Given the description of an element on the screen output the (x, y) to click on. 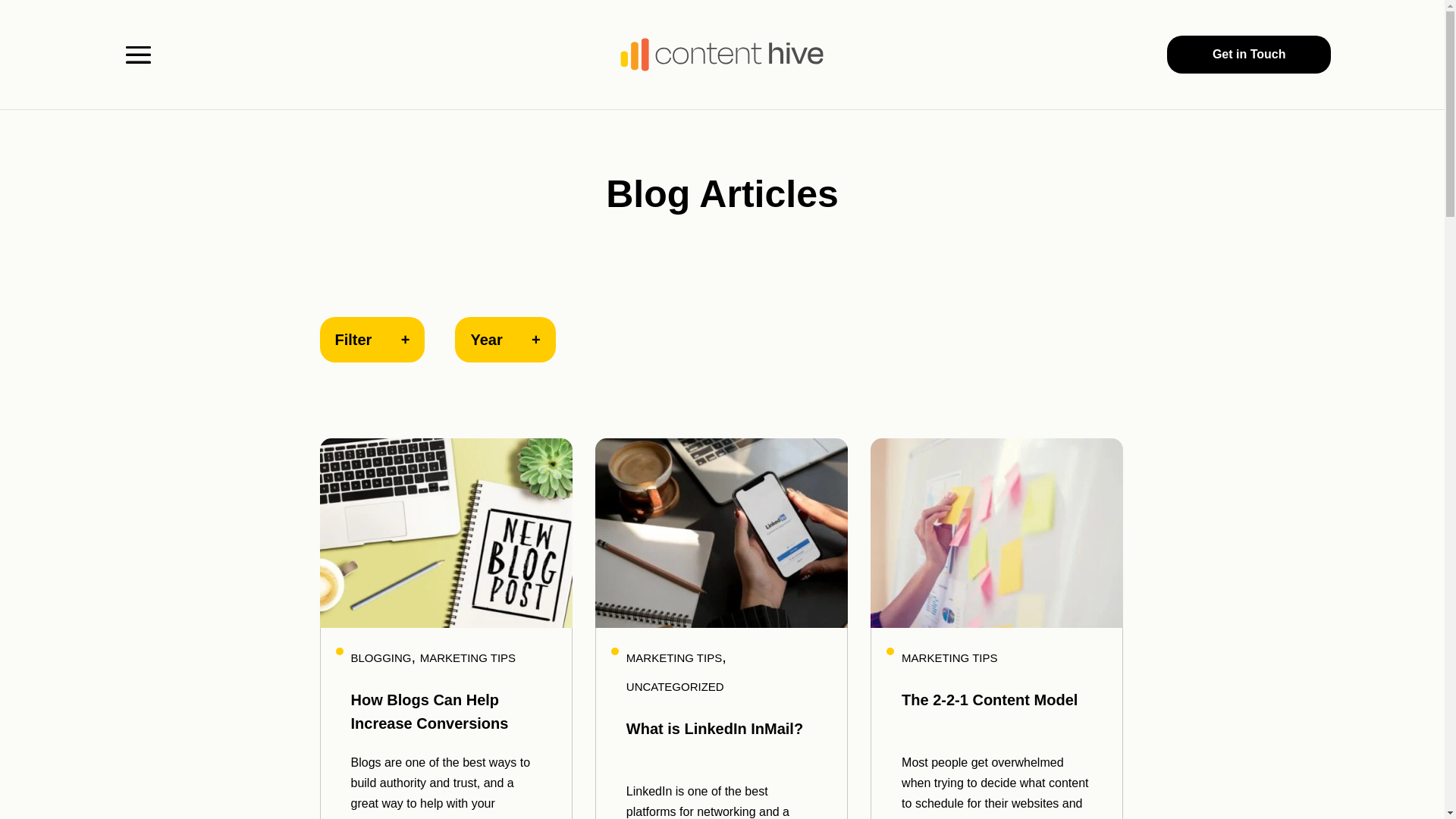
What is LinkedIn InMail? Element type: text (714, 728)
MARKETING TIPS Element type: text (467, 657)
Get in Touch Element type: text (1249, 54)
UNCATEGORIZED Element type: text (675, 686)
MARKETING TIPS Element type: text (949, 657)
BLOGGING Element type: text (380, 657)
MARKETING TIPS Element type: text (673, 657)
The 2-2-1 Content Model Element type: text (989, 699)
How Blogs Can Help Increase Conversions Element type: text (429, 711)
